Given the description of an element on the screen output the (x, y) to click on. 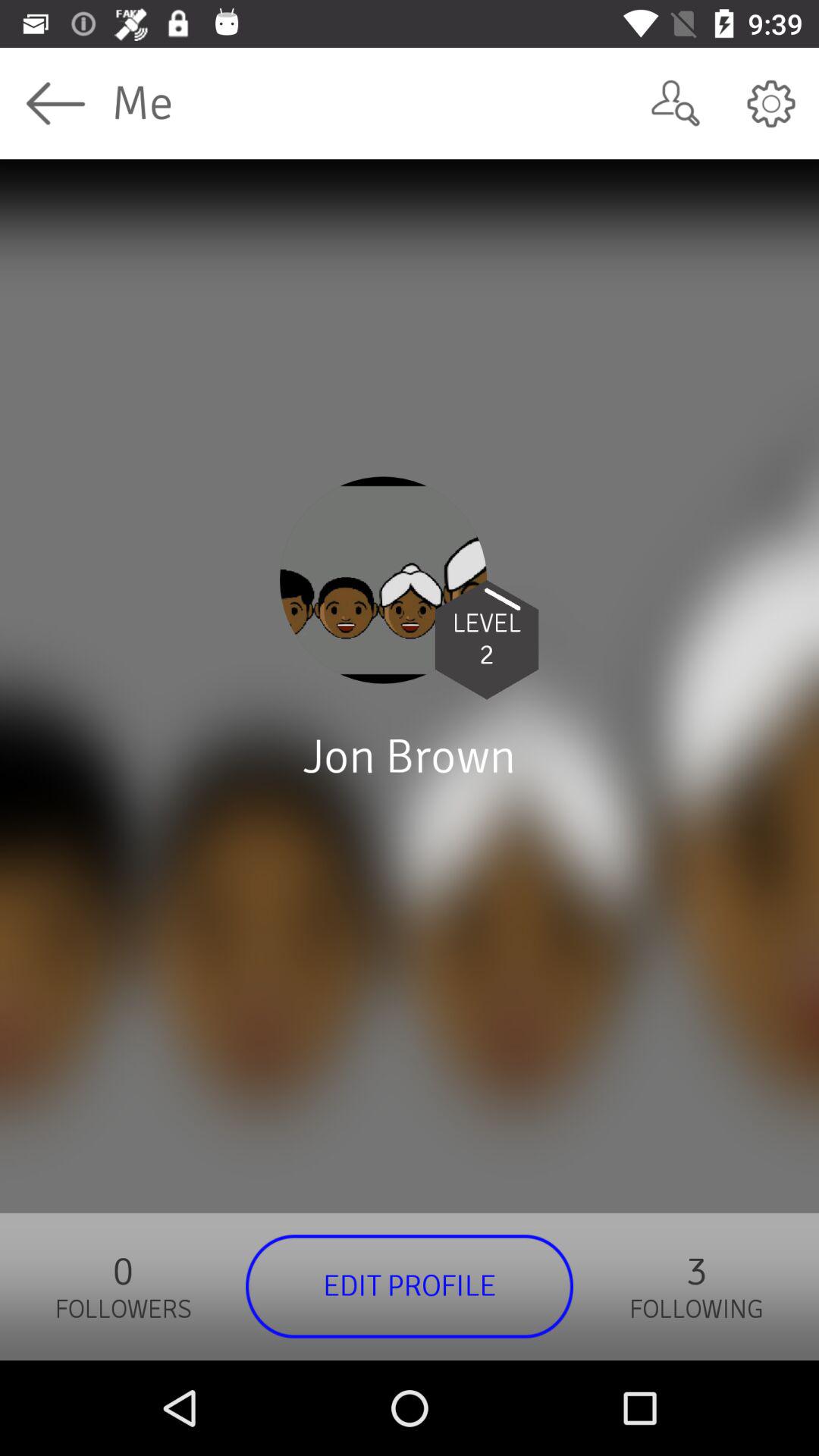
press app to the left of the me app (55, 103)
